Given the description of an element on the screen output the (x, y) to click on. 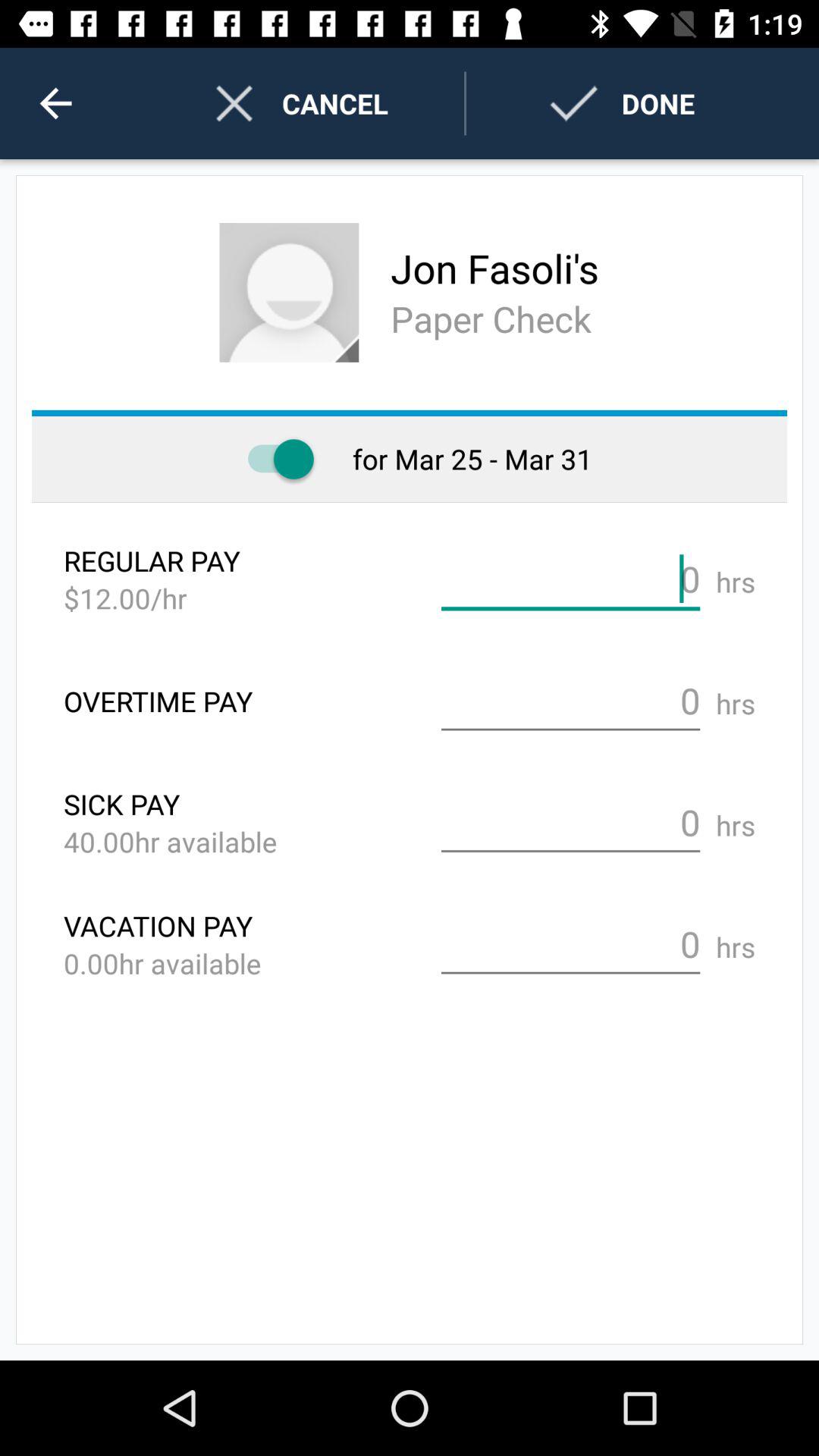
click the item next to jon fasoli's icon (288, 292)
